Given the description of an element on the screen output the (x, y) to click on. 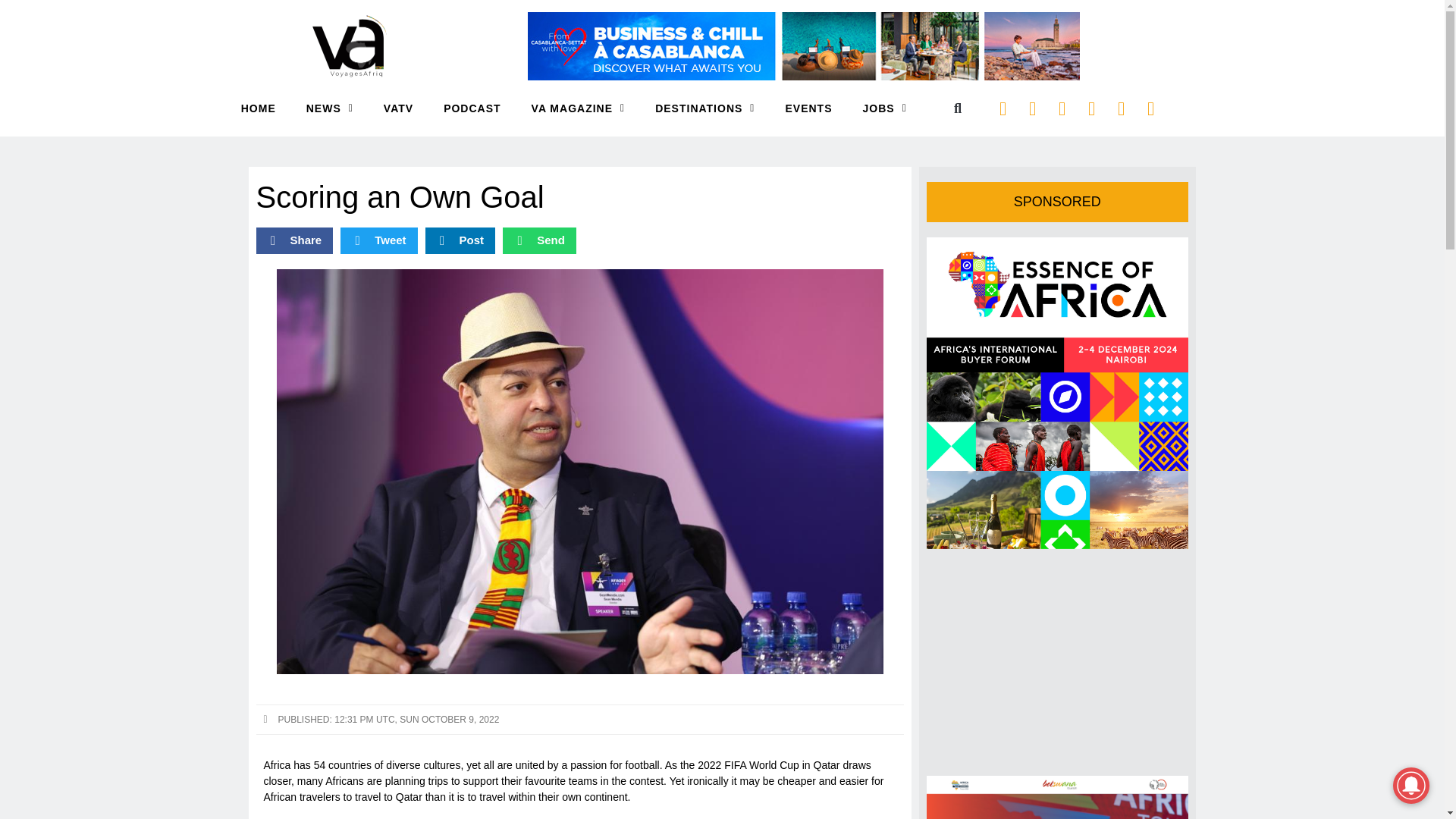
VA MAGAZINE (578, 108)
DESTINATIONS (704, 108)
PODCAST (472, 108)
